Given the description of an element on the screen output the (x, y) to click on. 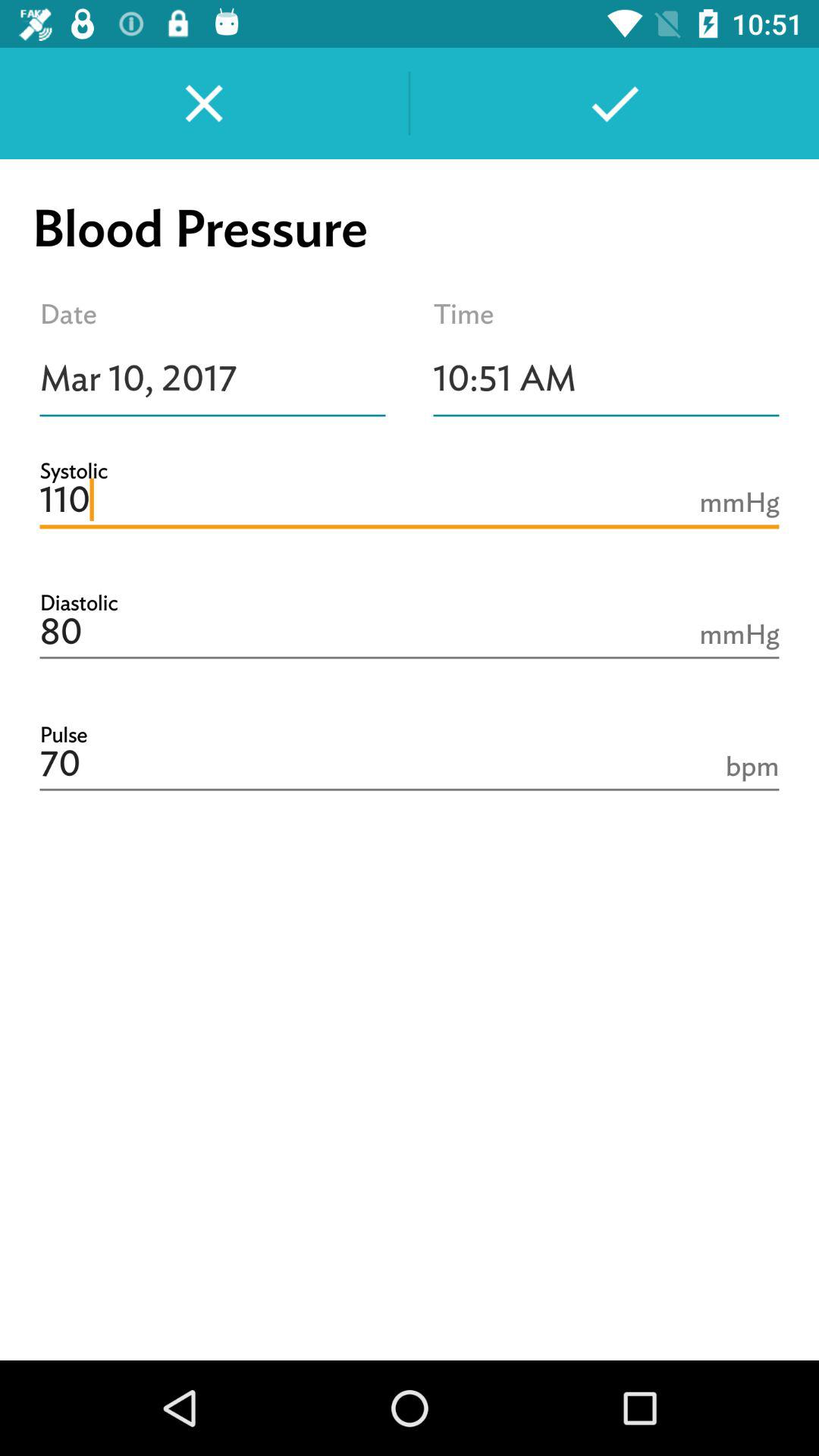
press the icon below mar 10, 2017 (409, 500)
